Given the description of an element on the screen output the (x, y) to click on. 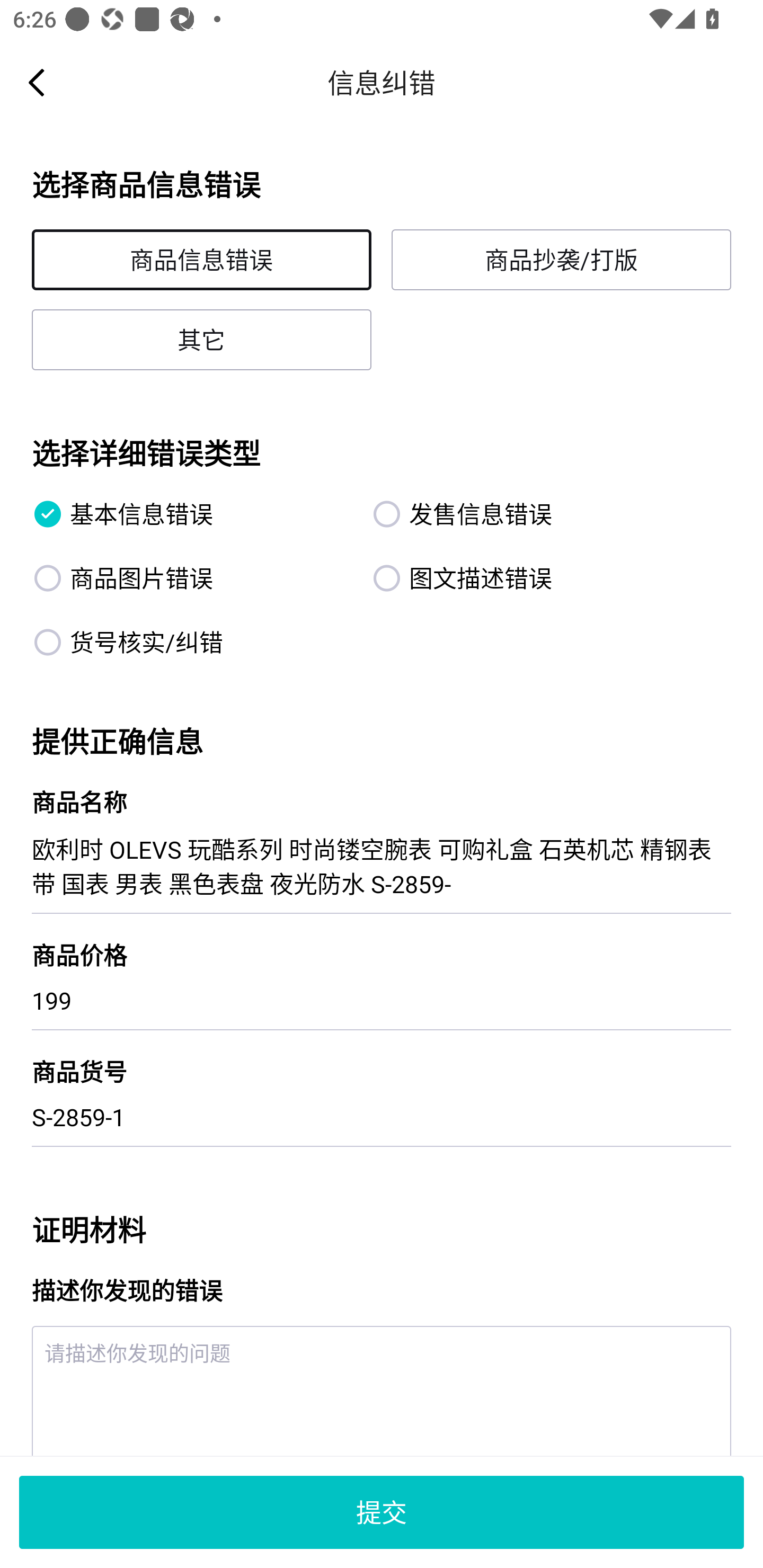
Navigate up (36, 82)
商品信息错误 (201, 259)
商品抄袭/打版 (560, 259)
其它 (201, 339)
 基本信息错误 (191, 513)
 发售信息错误 (530, 513)
 商品图片错误 (191, 577)
 图文描述错误 (530, 577)
 货号核实/纠错 (191, 641)
199 (381, 1000)
S-2859-1 (381, 1116)
请描述你发现的问题 (381, 1390)
提交 (381, 1512)
